Given the description of an element on the screen output the (x, y) to click on. 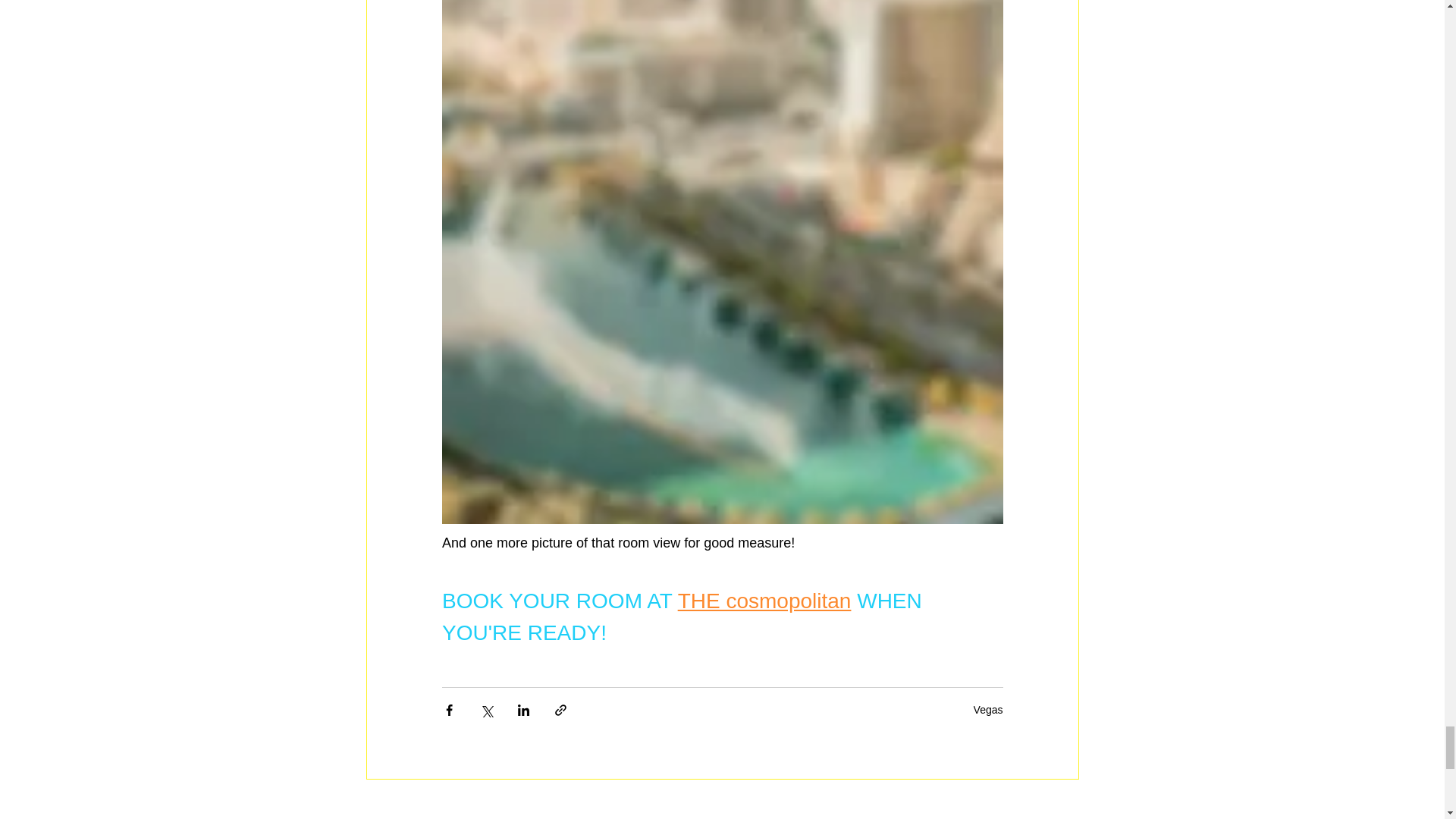
Vegas (988, 709)
THE cosmopolitan (763, 600)
